Given the description of an element on the screen output the (x, y) to click on. 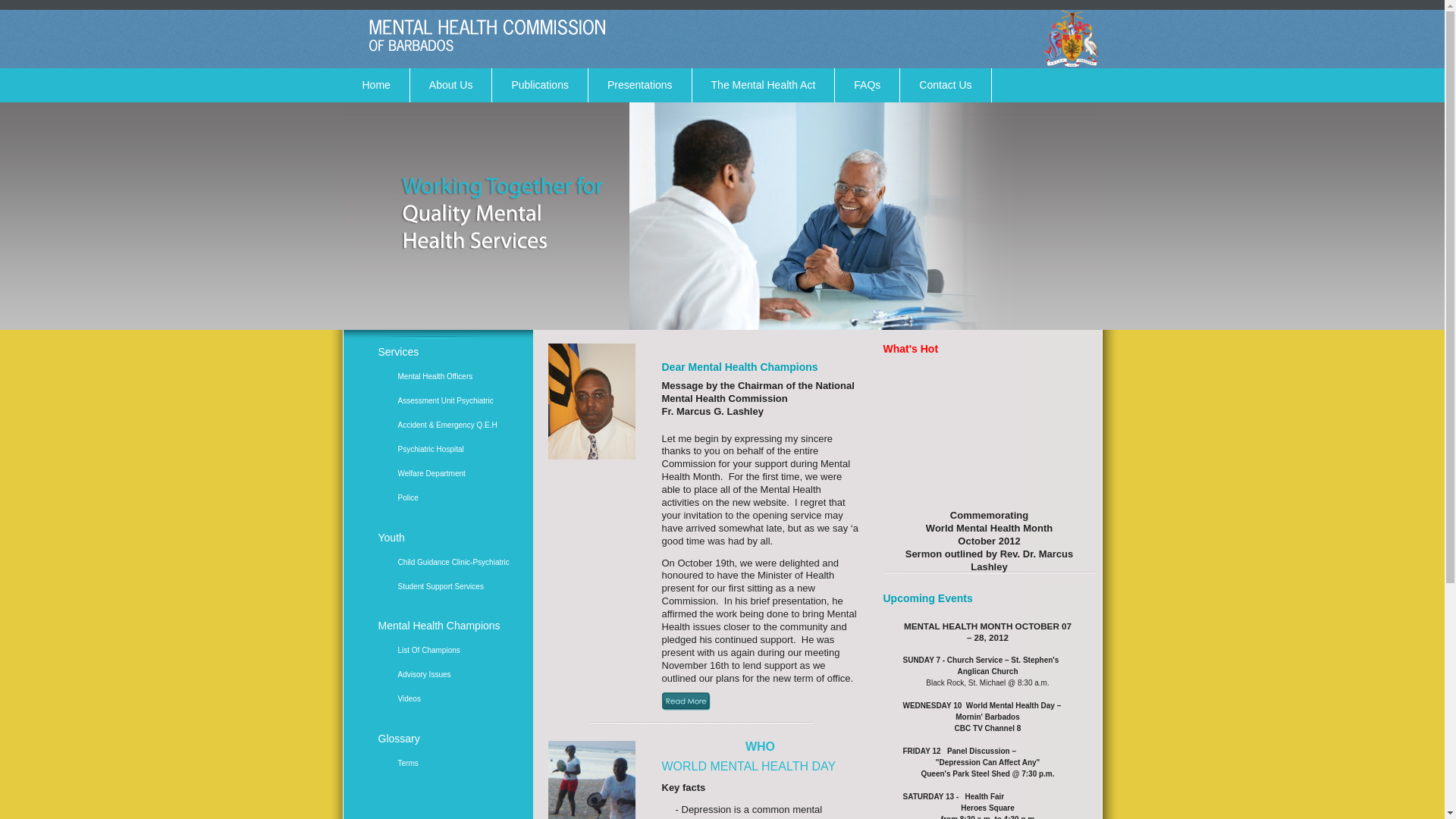
Glossary Element type: text (453, 738)
Advisory Issues Element type: text (454, 674)
Presentations Element type: text (639, 85)
FAQs Element type: text (866, 85)
Services Element type: text (453, 352)
About Us Element type: text (451, 85)
Youth Element type: text (453, 538)
Videos Element type: text (454, 698)
Assessment Unit Psychiatric Element type: text (454, 400)
Mental Health Officers Element type: text (454, 376)
Mental Health Champions Element type: text (453, 625)
Police Element type: text (454, 497)
Terms Element type: text (454, 763)
Home Element type: text (375, 85)
Student Support Services Element type: text (454, 586)
Dear Mental Health Champions Element type: text (739, 366)
Welfare Department Element type: text (454, 473)
Accident & Emergency Q.E.H Element type: text (454, 425)
Child Guidance Clinic-Psychiatric Element type: text (454, 562)
The Mental Health Act Element type: text (763, 85)
List Of Champions Element type: text (454, 650)
Contact Us Element type: text (945, 85)
Publications Element type: text (539, 85)
Psychiatric Hospital Element type: text (454, 449)
